Given the description of an element on the screen output the (x, y) to click on. 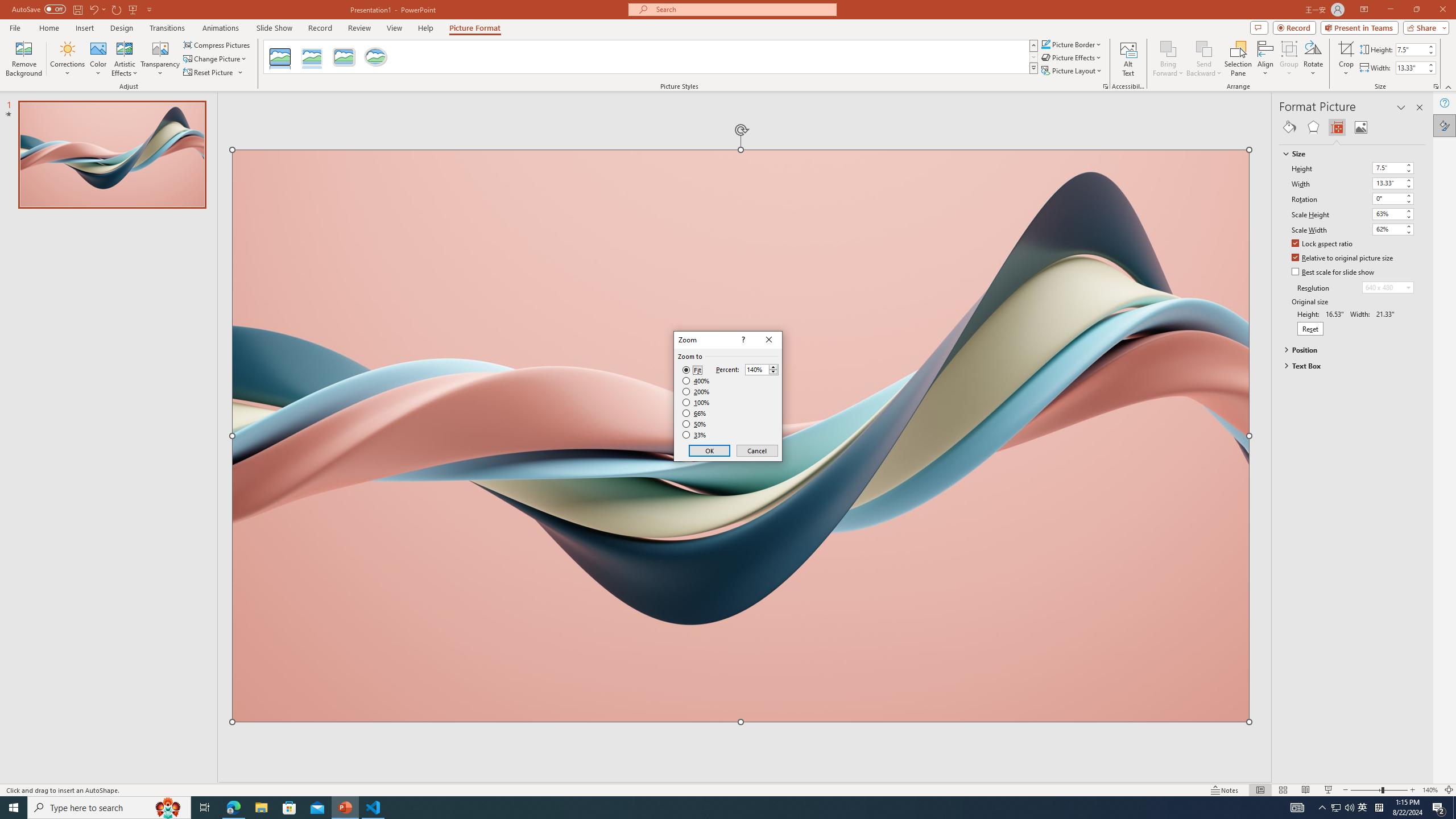
Percent (756, 369)
Resolution (1387, 287)
Metal Oval (375, 56)
200% (696, 391)
Scale Height (1388, 213)
Picture Border Blue, Accent 1 (1045, 44)
Remove Background (23, 58)
Artistic Effects (124, 58)
